Given the description of an element on the screen output the (x, y) to click on. 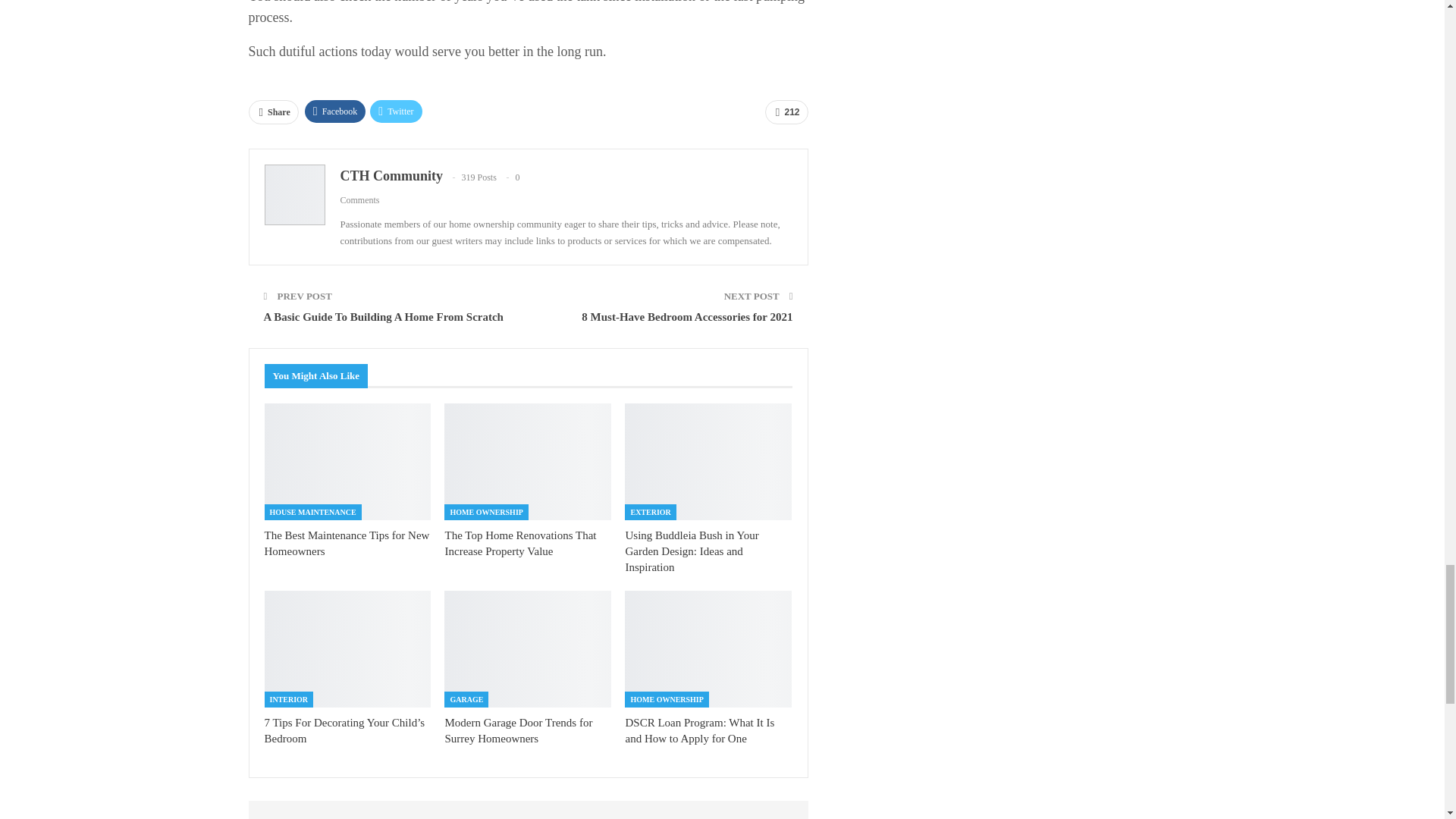
8 Must-Have Bedroom Accessories for 2021 (686, 316)
The Best Maintenance Tips for New Homeowners (346, 543)
The Top Home Renovations That Increase Property Value (527, 461)
HOUSE MAINTENANCE (312, 512)
Facebook (335, 110)
The Best Maintenance Tips for New Homeowners (346, 461)
DSCR Loan Program: What It Is and How to Apply for One (708, 648)
Twitter (395, 110)
A Basic Guide To Building A Home From Scratch  (384, 316)
